Given the description of an element on the screen output the (x, y) to click on. 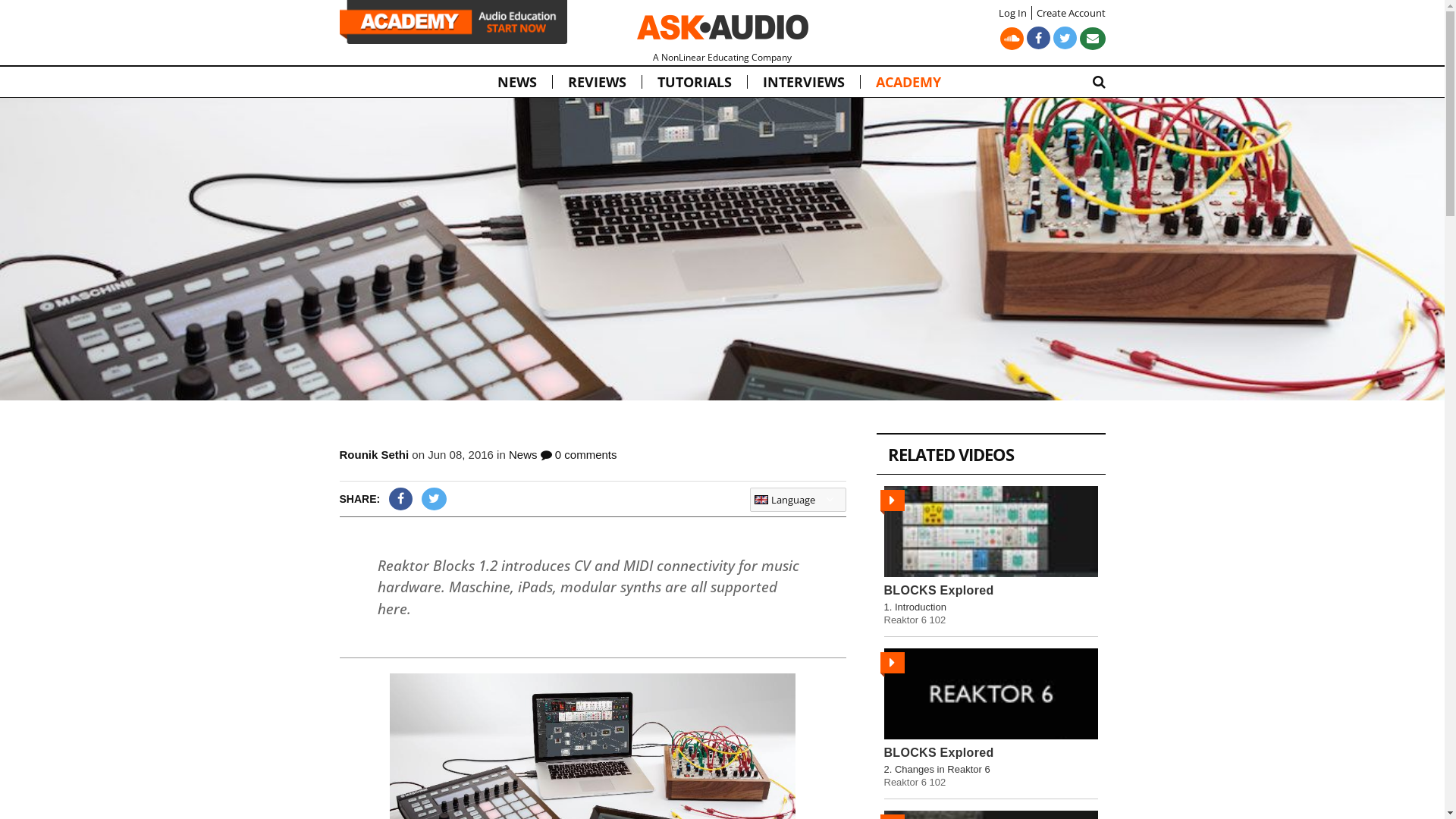
0 comments Element type: text (578, 454)
INTERVIEWS Element type: text (803, 81)
Rounik Sethi Element type: text (374, 454)
BLOCKS Explored
2. Changes in Reaktor 6
Reaktor 6 102 Element type: text (991, 718)
News Element type: text (522, 454)
BLOCKS Explored
1. Introduction
Reaktor 6 102 Element type: text (991, 555)
Language Element type: text (796, 499)
TUTORIALS Element type: text (693, 81)
Log In Element type: text (1011, 12)
NEWS Element type: text (517, 81)
REVIEWS Element type: text (596, 81)
ACADEMY Element type: text (907, 81)
  Element type: text (415, 608)
Create Account Element type: text (1068, 12)
